Given the description of an element on the screen output the (x, y) to click on. 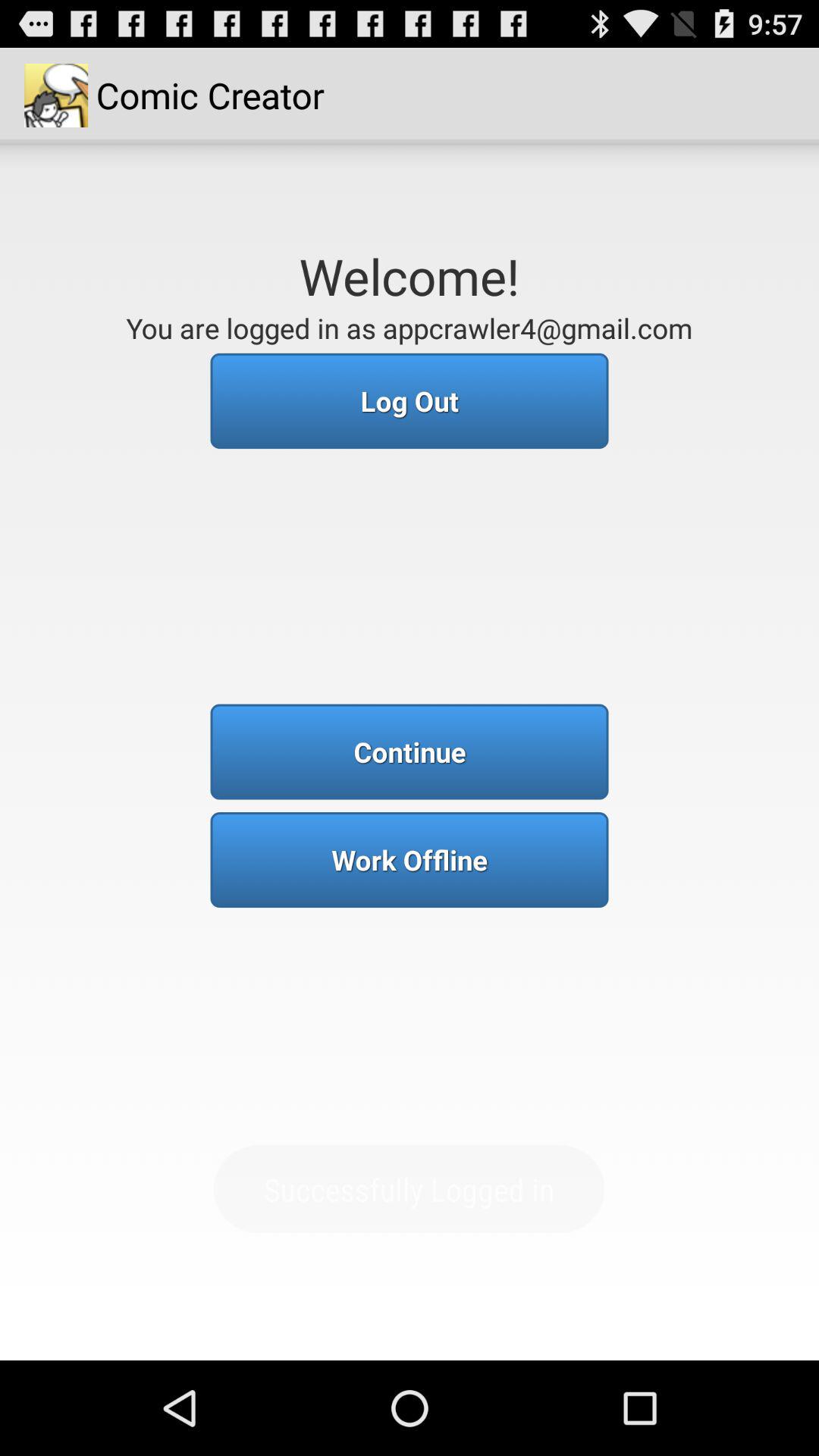
press the app below you are logged (409, 400)
